Given the description of an element on the screen output the (x, y) to click on. 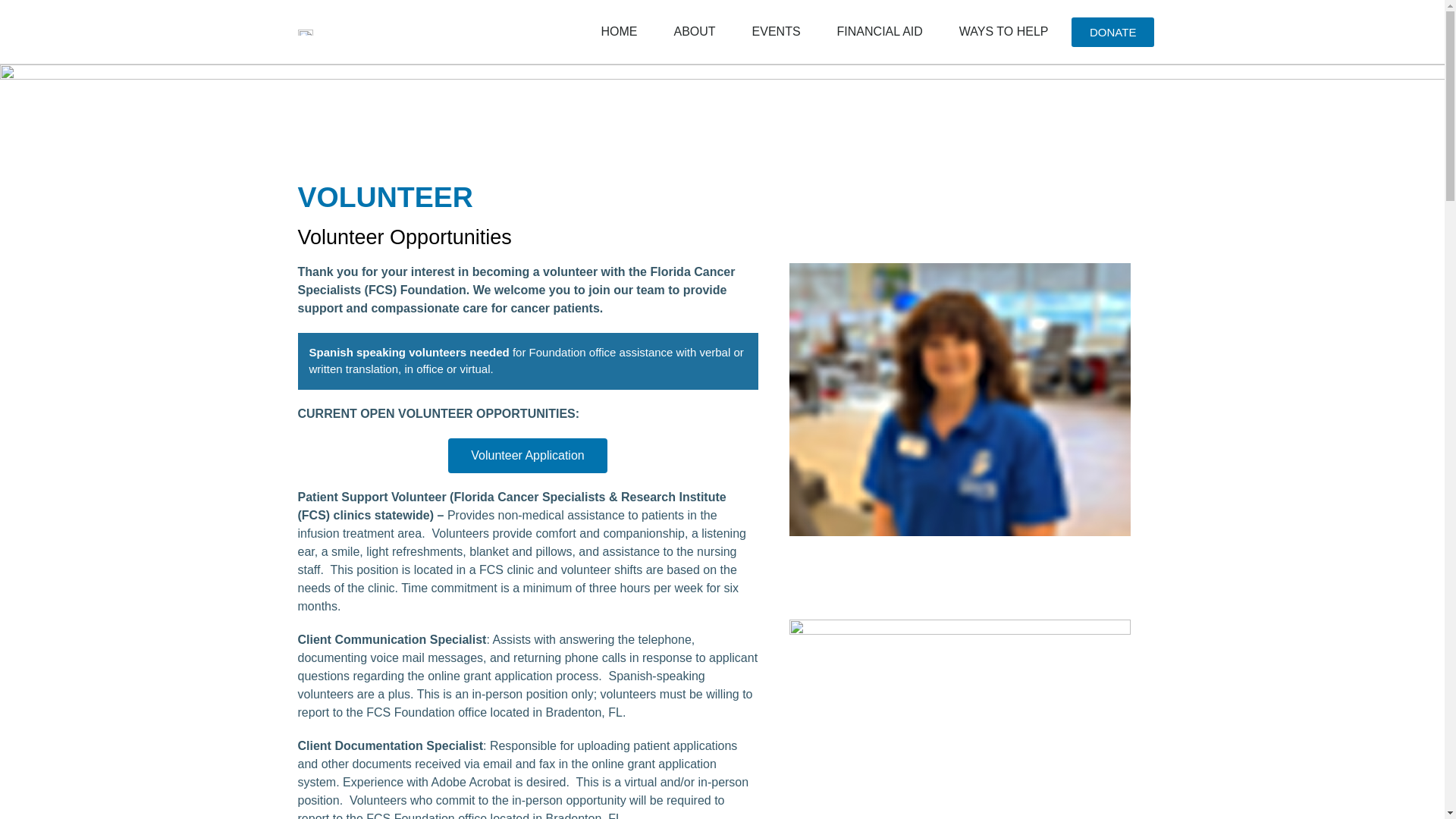
HOME (618, 31)
EVENTS (775, 31)
FINANCIAL AID (879, 31)
WAYS TO HELP (1003, 31)
ABOUT (694, 31)
